Given the description of an element on the screen output the (x, y) to click on. 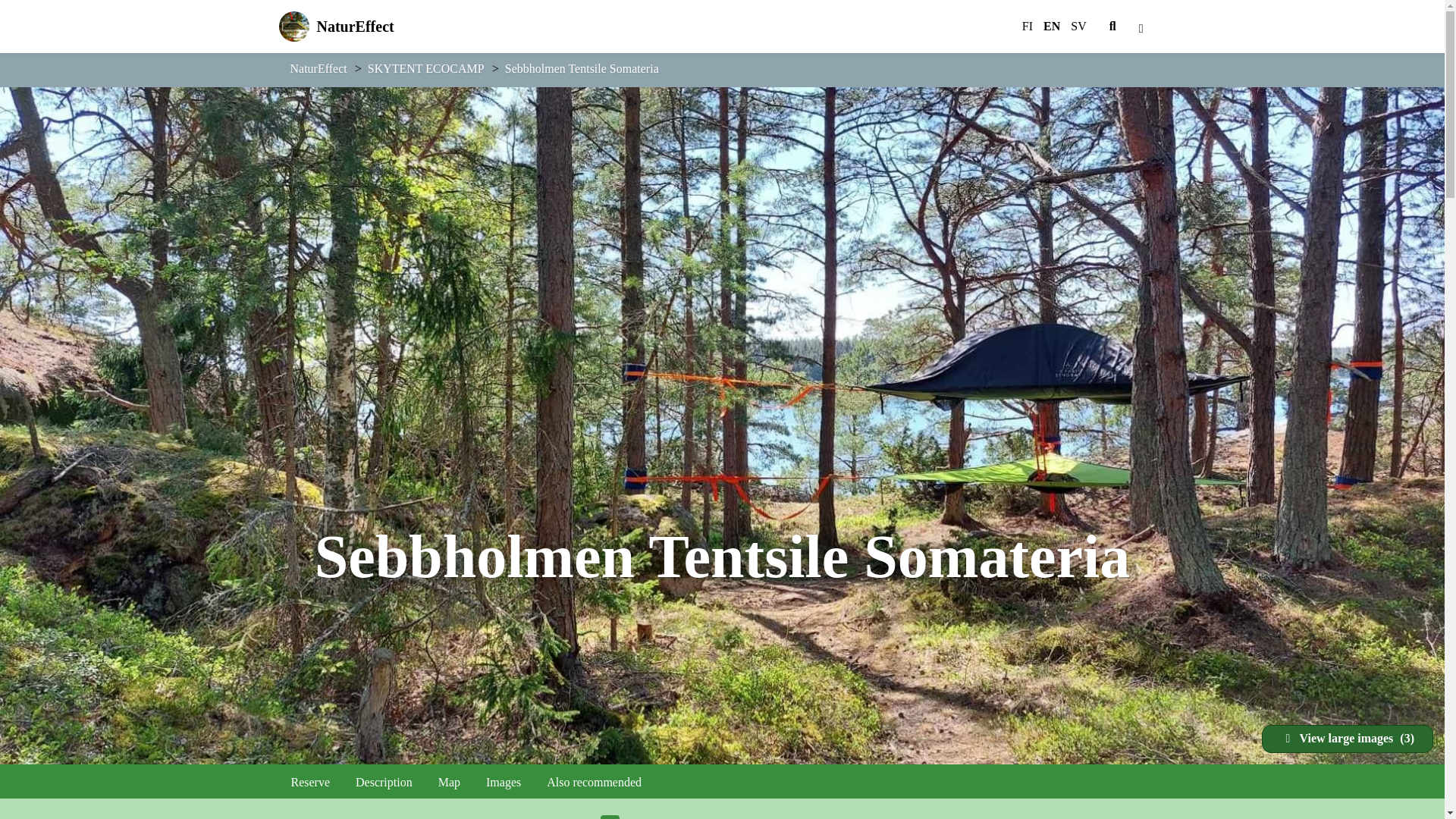
Images (503, 782)
Sebbholmen Tentsile Somateria (582, 68)
Also recommended (593, 782)
NaturEffect (317, 68)
Map (448, 782)
Reserve (310, 782)
Description (377, 26)
SKYTENT ECOCAMP (384, 782)
